Given the description of an element on the screen output the (x, y) to click on. 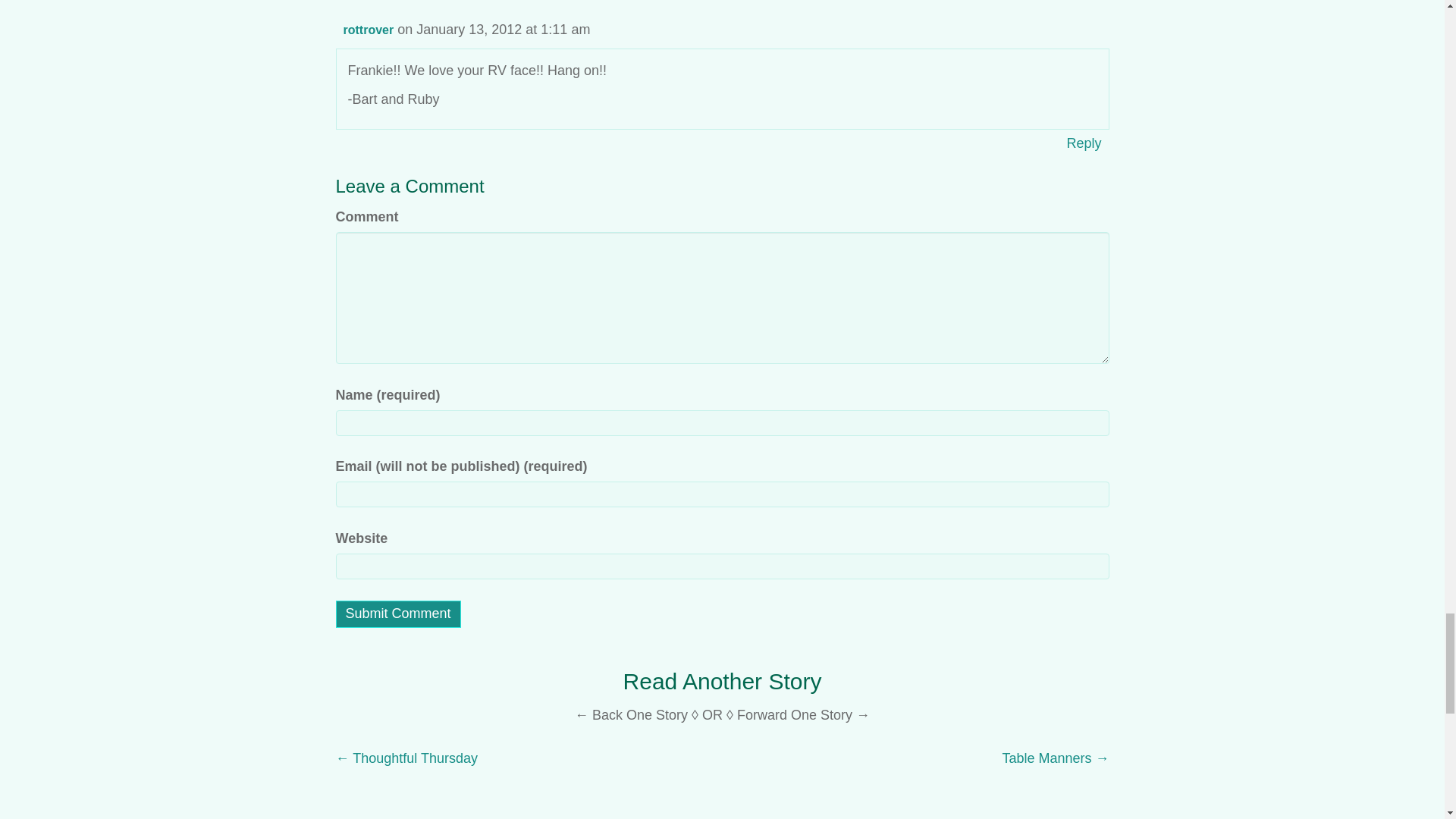
Submit Comment (397, 614)
